Given the description of an element on the screen output the (x, y) to click on. 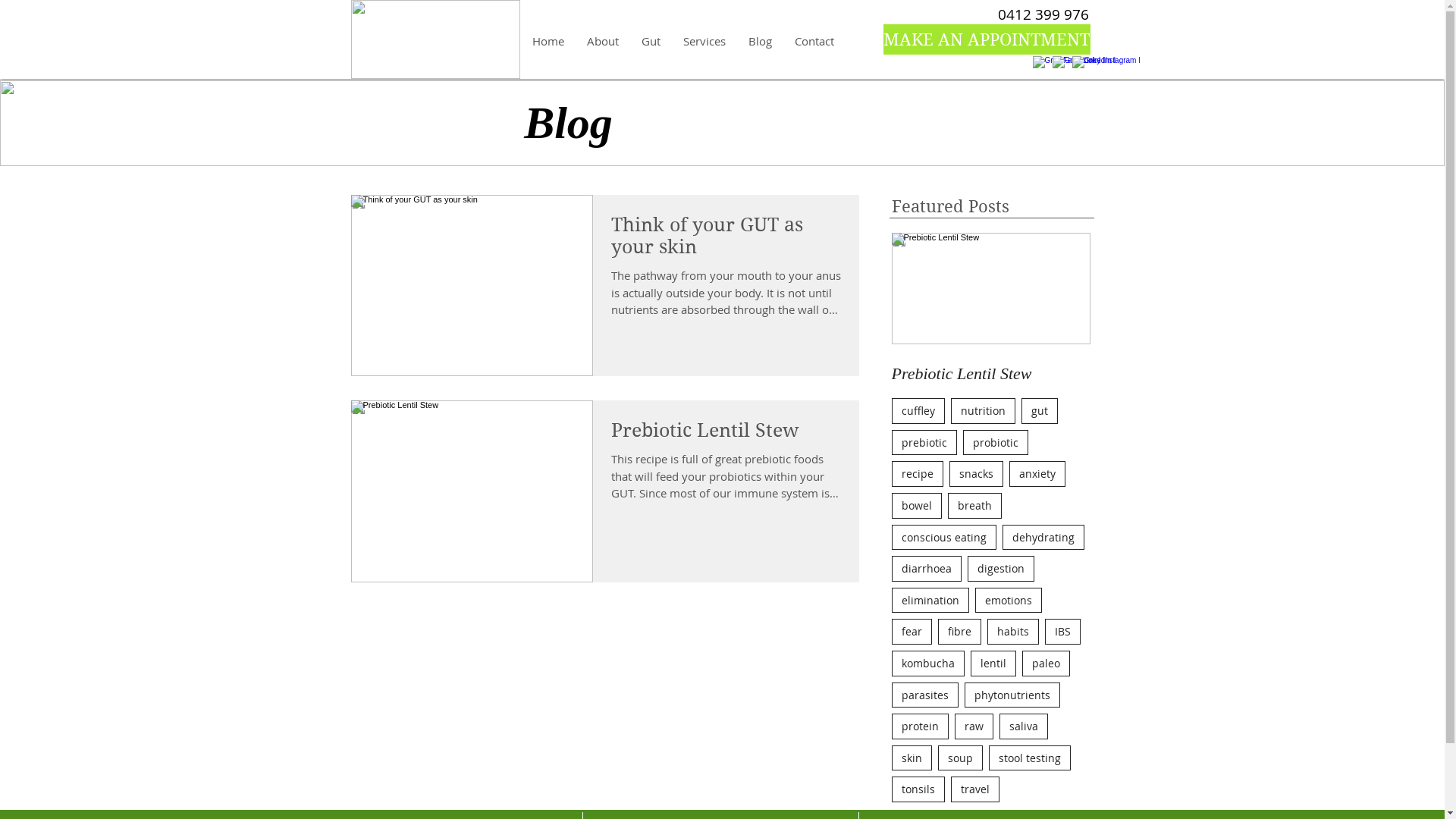
skin Element type: text (911, 758)
Think of your GUT as your skin Element type: text (725, 239)
fear Element type: text (911, 631)
digestion Element type: text (1000, 568)
raw Element type: text (972, 726)
Prebiotic Lentil Stew Element type: text (725, 434)
parasites Element type: text (924, 695)
dehydrating Element type: text (1043, 537)
elimination Element type: text (930, 600)
breath Element type: text (974, 505)
0412 399 976 Element type: text (1043, 14)
Prebiotic Lentil Stew Element type: text (990, 373)
phytonutrients Element type: text (1012, 695)
probiotic Element type: text (995, 442)
cuffley Element type: text (917, 410)
kombucha Element type: text (927, 663)
About Element type: text (601, 40)
protein Element type: text (919, 726)
gut Element type: text (1038, 410)
MAKE AN APPOINTMENT Element type: text (985, 39)
bowel Element type: text (916, 505)
Home Element type: text (547, 40)
Gut Element type: text (650, 40)
tonsils Element type: text (917, 789)
stool testing Element type: text (1029, 758)
IBS Element type: text (1062, 631)
paleo Element type: text (1046, 663)
fibre Element type: text (958, 631)
soup Element type: text (959, 758)
prebiotic Element type: text (924, 442)
Services Element type: text (704, 40)
diarrhoea Element type: text (926, 568)
lentil Element type: text (993, 663)
nutrition Element type: text (982, 410)
conscious eating Element type: text (943, 537)
emotions Element type: text (1008, 600)
habits Element type: text (1012, 631)
recipe Element type: text (917, 473)
saliva Element type: text (1023, 726)
snacks Element type: text (976, 473)
anxiety Element type: text (1036, 473)
travel Element type: text (974, 789)
Contact Element type: text (813, 40)
Blog Element type: text (760, 40)
